Given the description of an element on the screen output the (x, y) to click on. 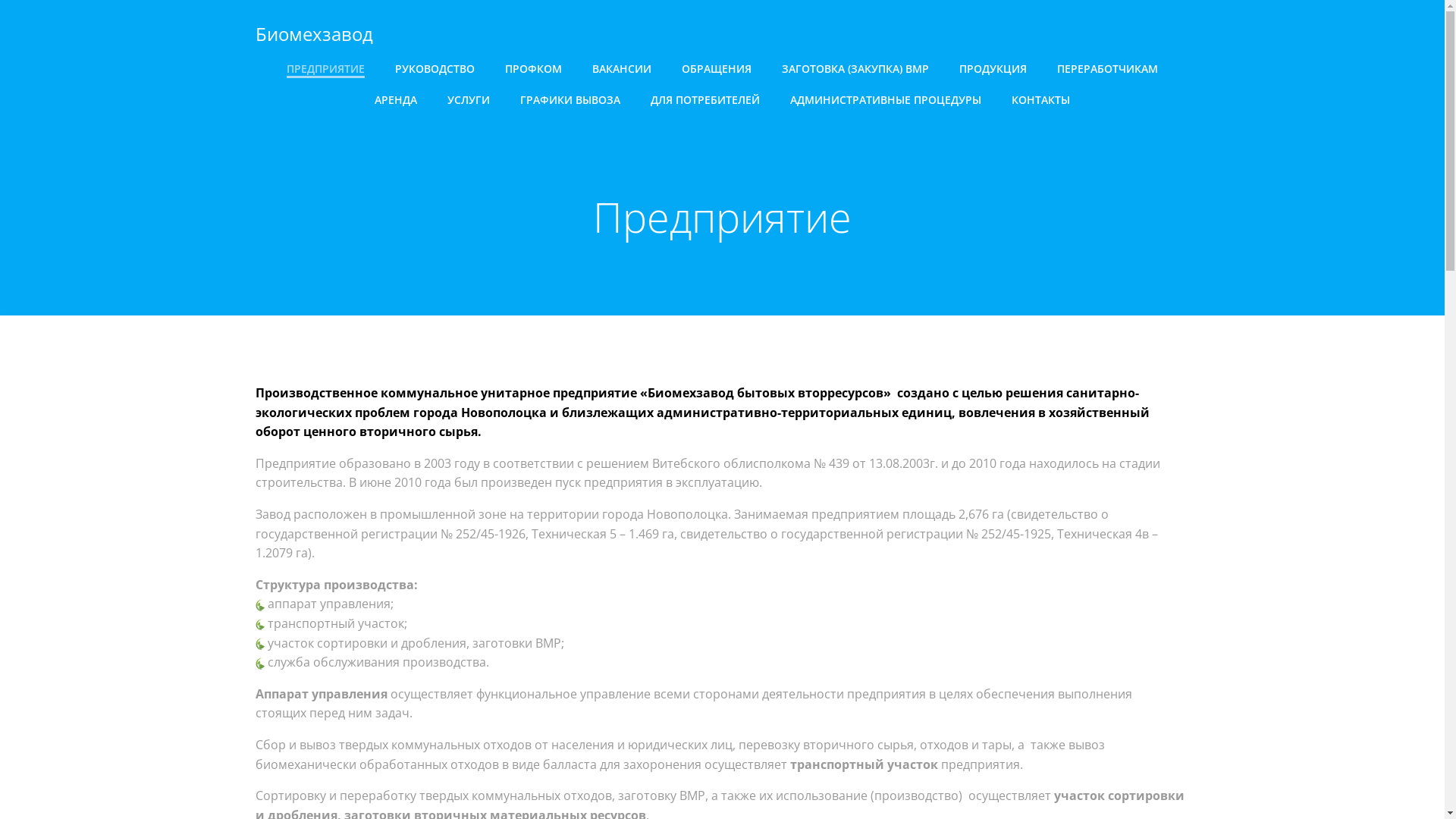
ColibriWP Theme Element type: text (883, 773)
